Given the description of an element on the screen output the (x, y) to click on. 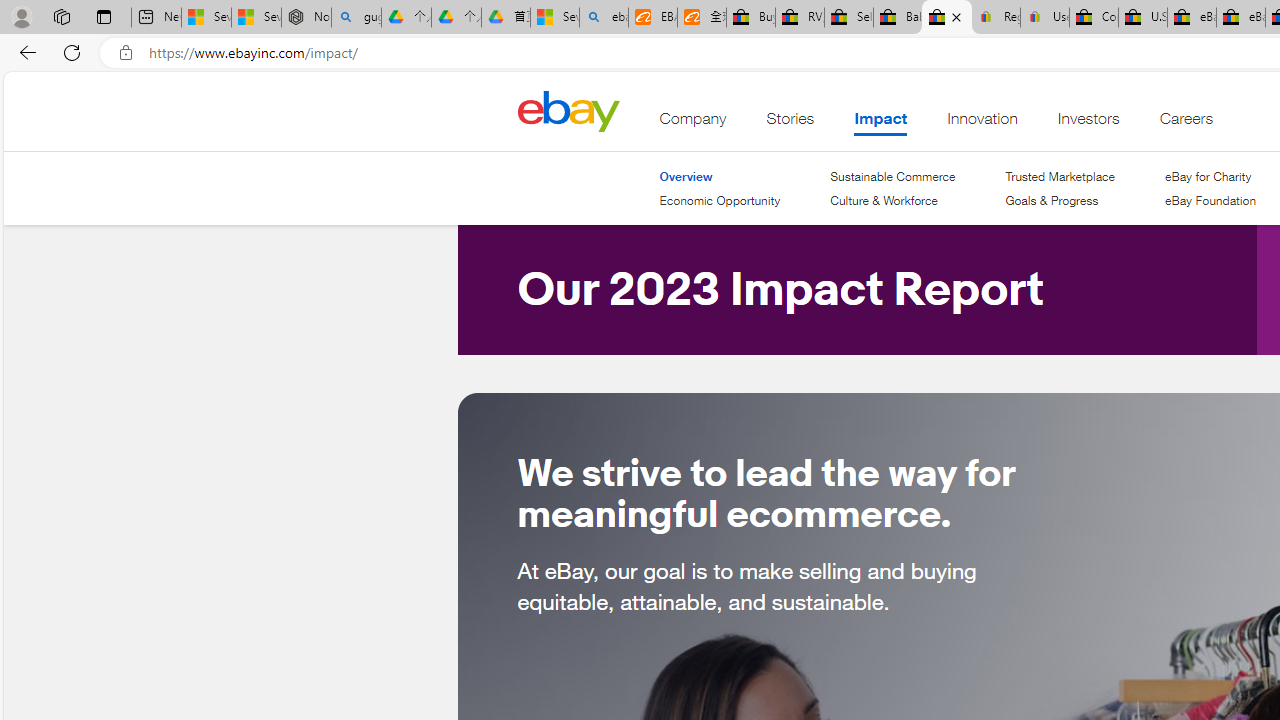
guge yunpan - Search (356, 17)
Sustainable Commerce (892, 176)
Trusted Marketplace (1059, 176)
eBay Impact - eBay Inc. (946, 17)
RV, Trailer & Camper Steps & Ladders for sale | eBay (799, 17)
U.S. State Privacy Disclosures - eBay Inc. (1142, 17)
Tab actions menu (104, 16)
Class: desktop (568, 110)
Impact (880, 123)
Company (693, 123)
Home (568, 110)
Careers (1185, 123)
Culture & Workforce (892, 201)
Goals & Progress (1051, 200)
